Given the description of an element on the screen output the (x, y) to click on. 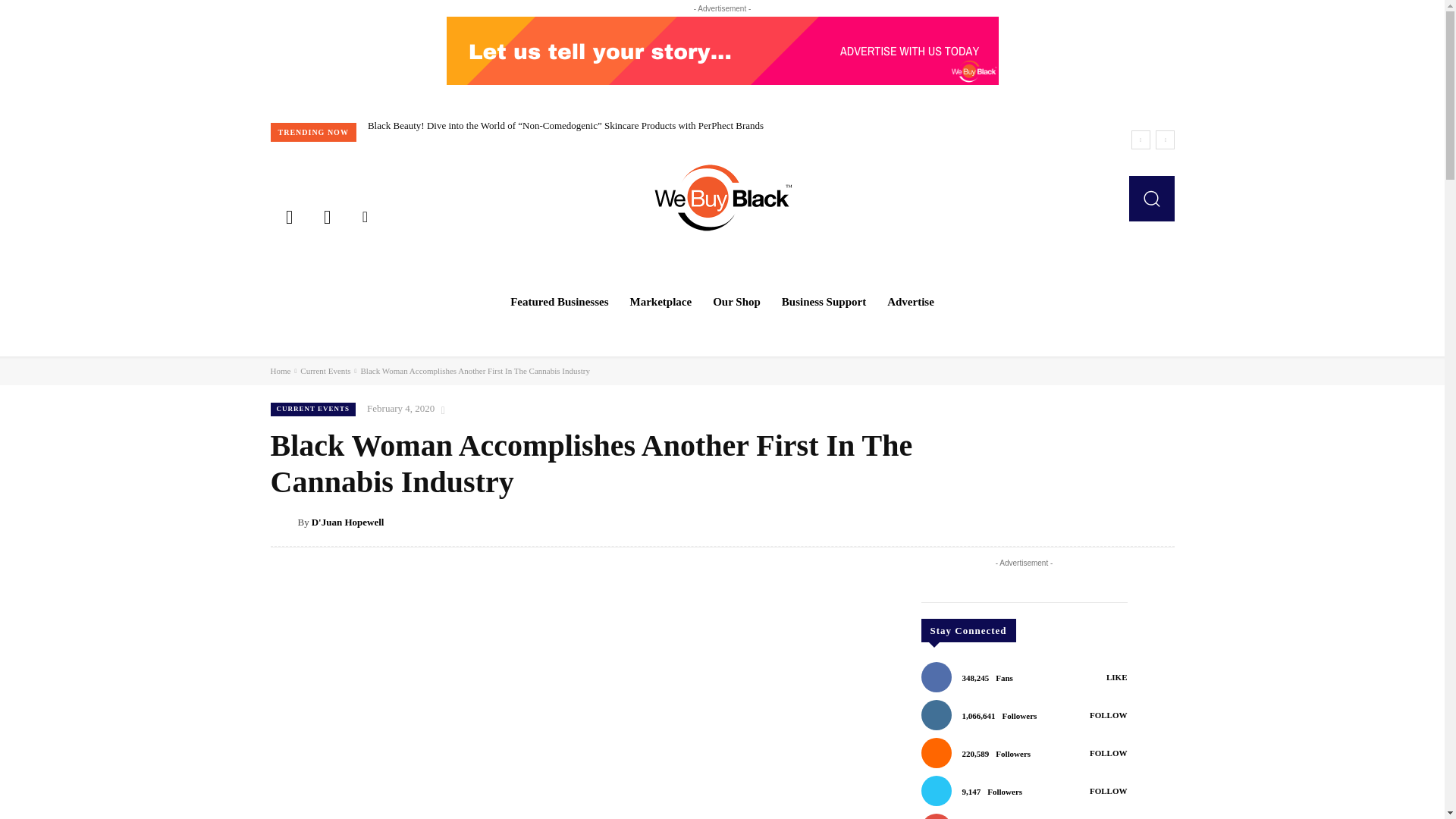
Instagram (326, 216)
Our Shop (736, 301)
Facebook (288, 216)
Business Support (823, 301)
Featured Businesses (558, 301)
Advertise (910, 301)
Twitter (365, 216)
Marketplace (661, 301)
